Given the description of an element on the screen output the (x, y) to click on. 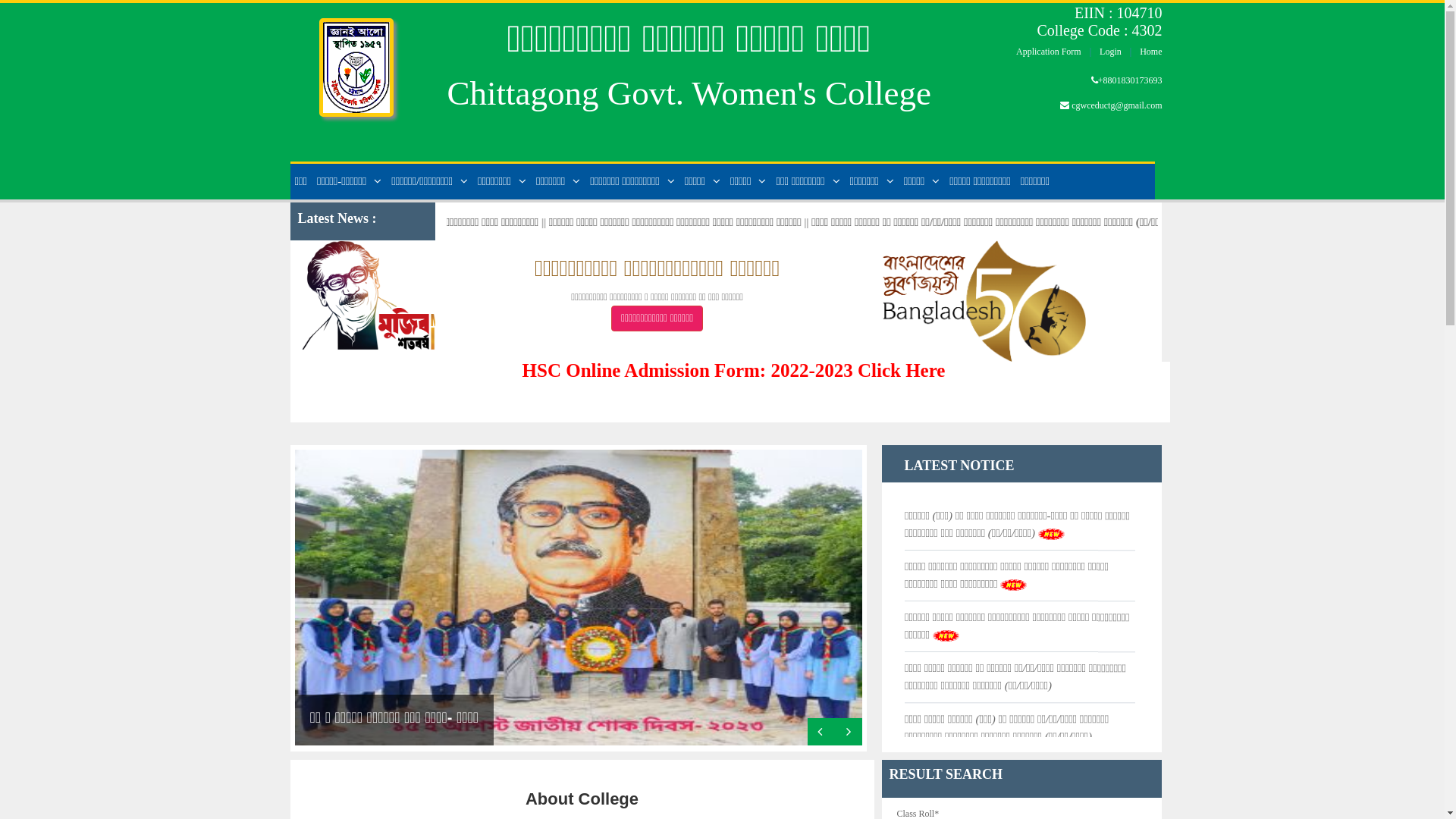
cgwceductg@gmail.com Element type: text (1116, 105)
Login Element type: text (1110, 51)
Application Form Element type: text (1048, 51)
  Element type: text (820, 731)
Home Element type: hover (356, 58)
HSC Online Admission Form: 2022-2023 Click Here Element type: text (733, 370)
Home Element type: text (1150, 51)
  Element type: text (847, 731)
